Given the description of an element on the screen output the (x, y) to click on. 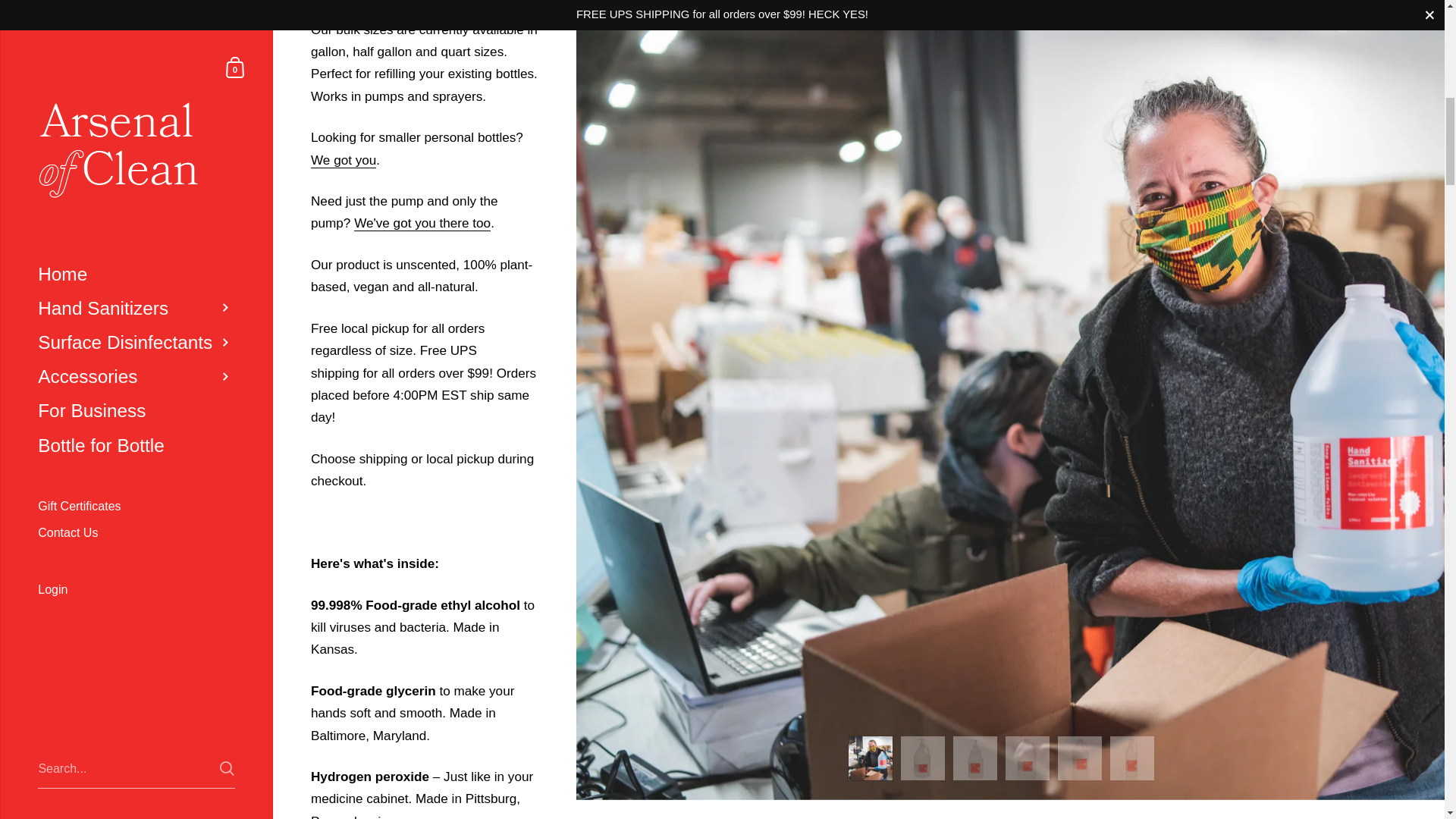
Personal Size Hand Sanitizers (343, 160)
We got you (343, 160)
Pumps for Gallon and Half Gallon Jugs (421, 222)
We've got you there too (421, 222)
